Given the description of an element on the screen output the (x, y) to click on. 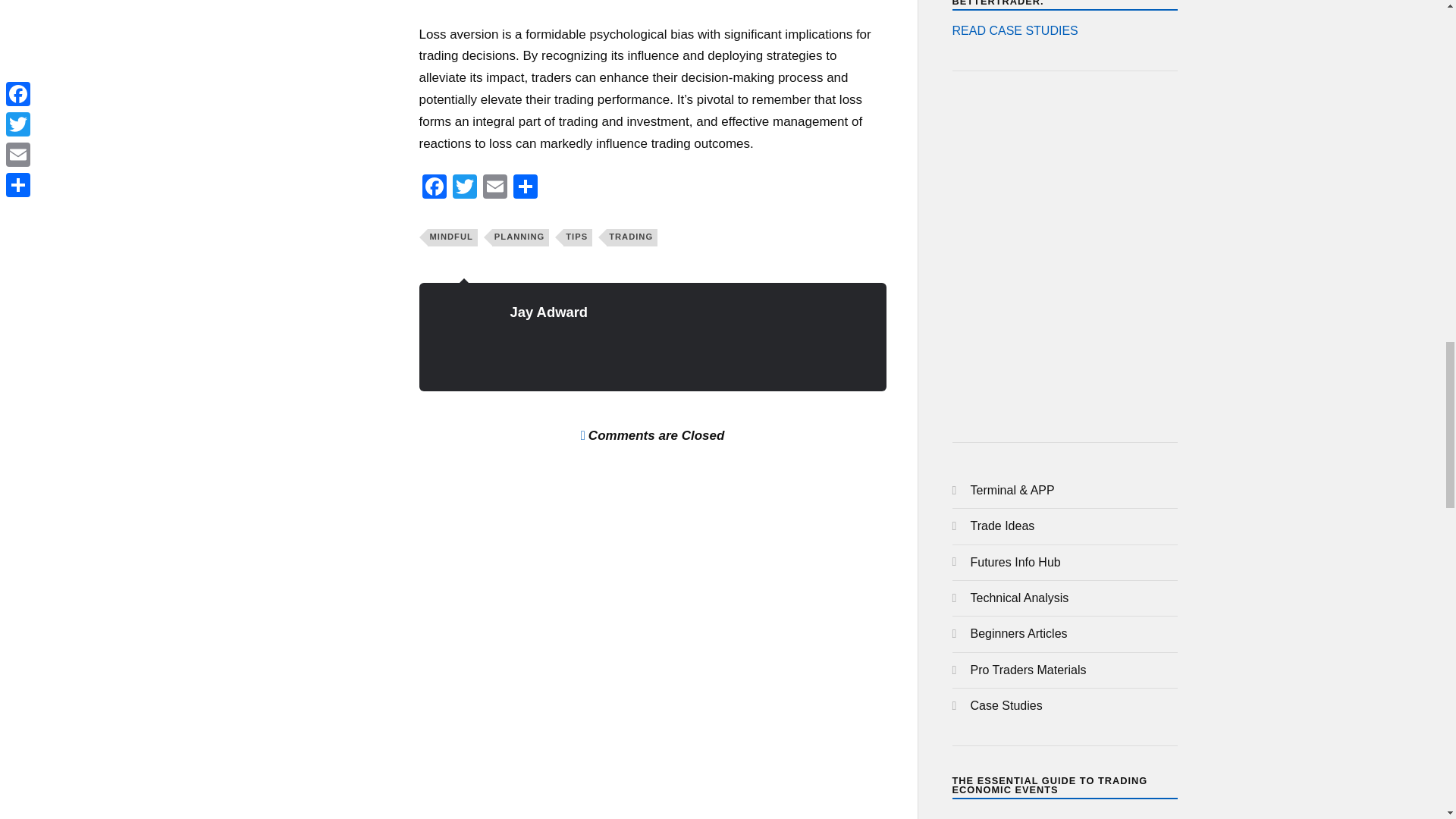
Twitter (463, 188)
Facebook (433, 188)
Jay Adward (548, 311)
Email (494, 188)
MINDFUL (452, 237)
TRADING (632, 237)
Twitter (463, 188)
PLANNING (520, 237)
Facebook (433, 188)
TIPS (577, 237)
